Given the description of an element on the screen output the (x, y) to click on. 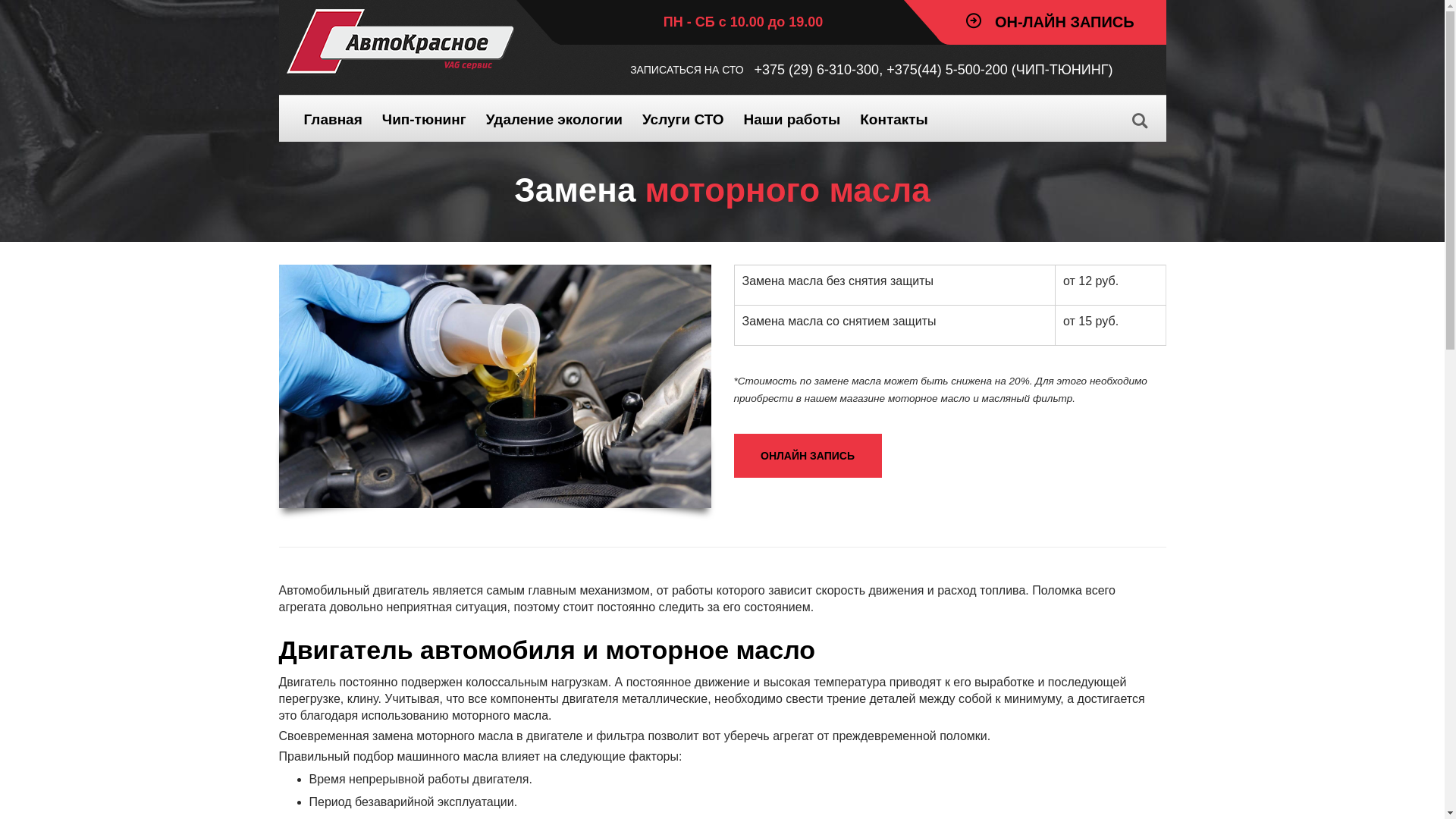
+375 (29) 6-310-300 Element type: text (816, 69)
+375(44) 5-500-200 Element type: text (946, 69)
